Given the description of an element on the screen output the (x, y) to click on. 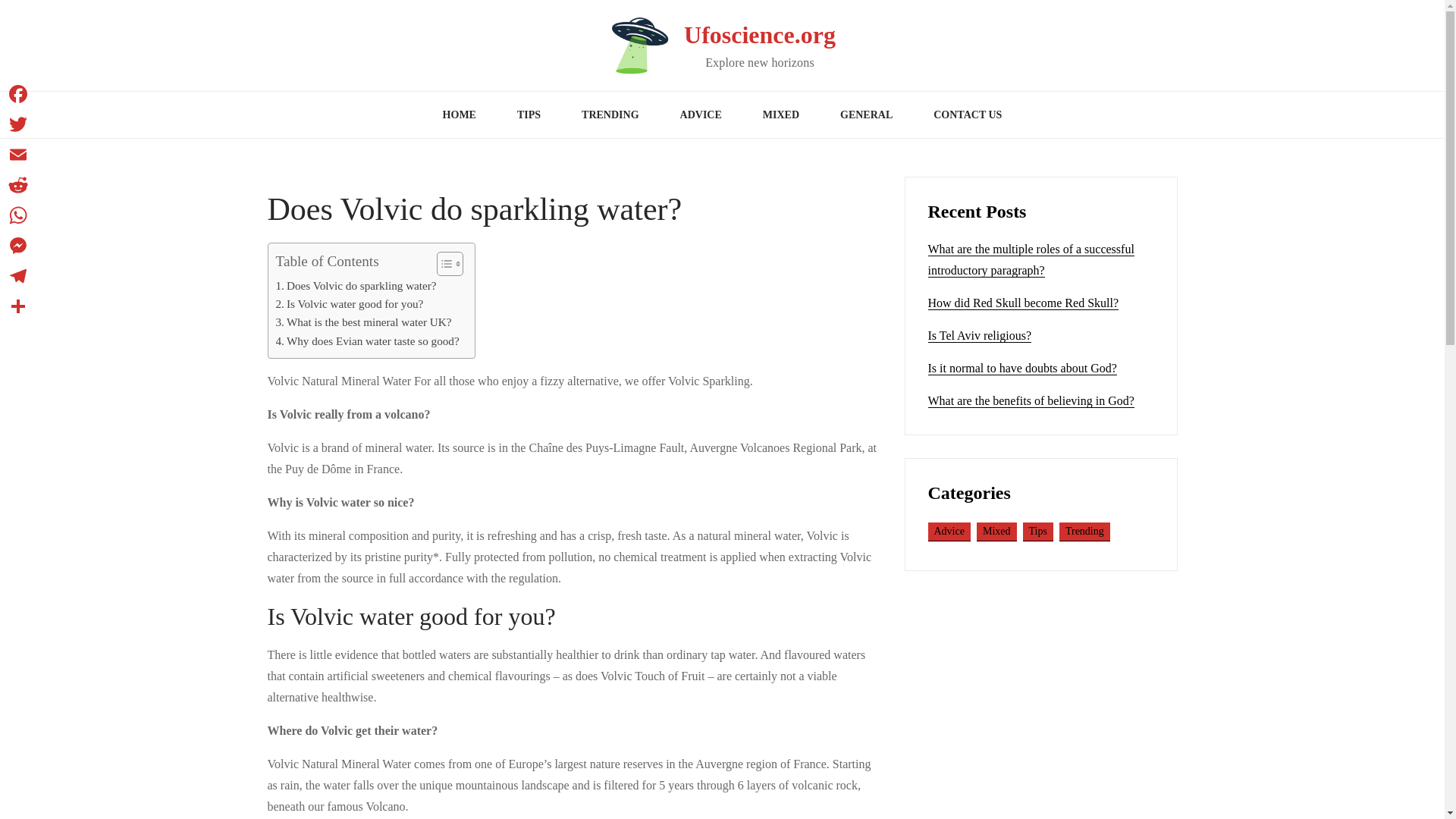
Is Tel Aviv religious? (980, 336)
HOME (459, 114)
Is Volvic water good for you? (349, 303)
WhatsApp (17, 214)
Is Volvic water good for you? (349, 303)
Ufoscience.org (759, 34)
Why does Evian water taste so good? (368, 341)
Reddit (17, 184)
Messenger (17, 245)
Does Volvic do sparkling water? (356, 285)
